Given the description of an element on the screen output the (x, y) to click on. 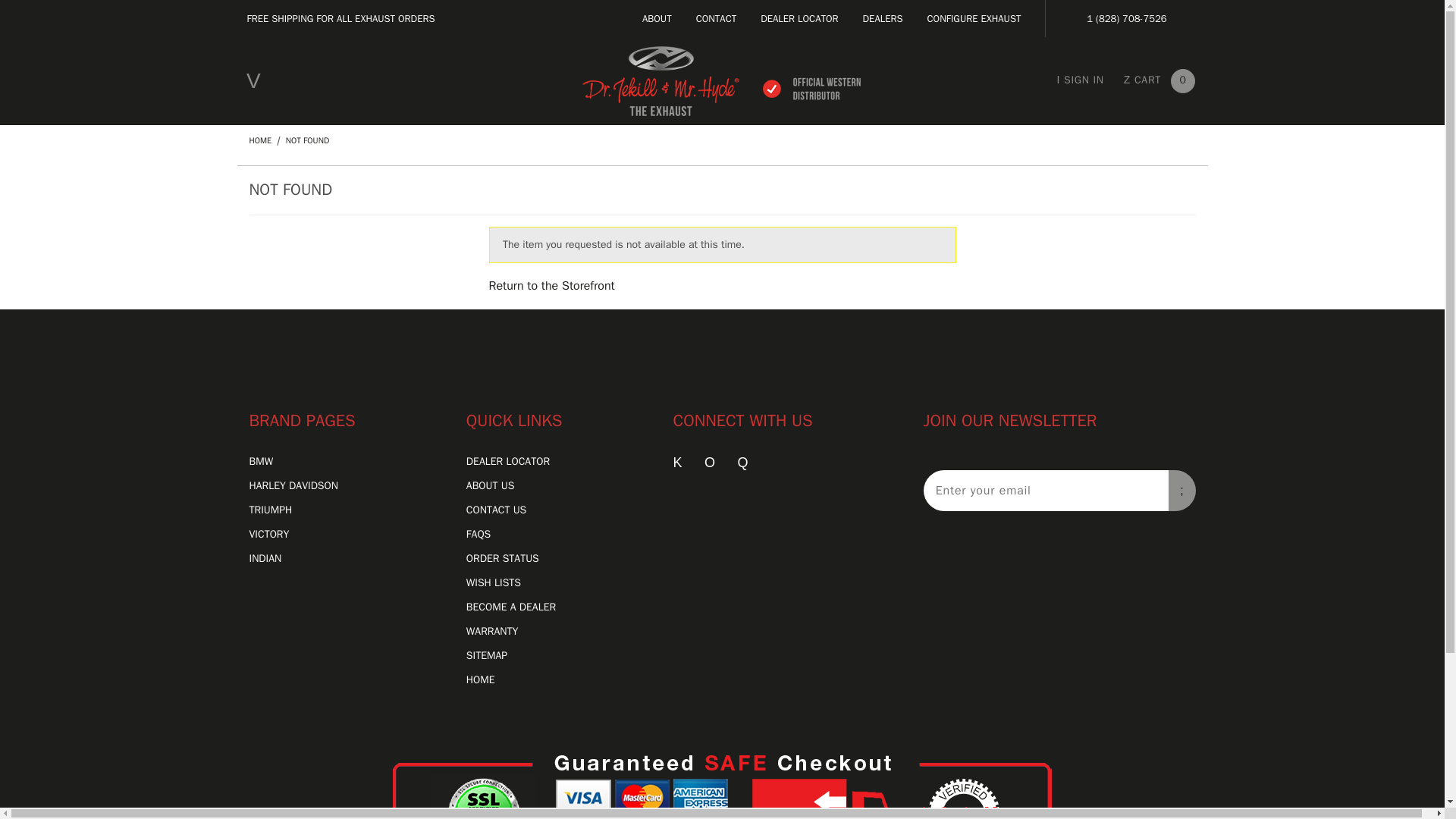
Dealer Locator (799, 18)
Back to home page (721, 80)
Click to call us now (1126, 18)
Configure Exhaust (974, 18)
Click to join our newsletter (1182, 490)
Dealers (882, 18)
Home (260, 140)
About (656, 18)
Not Found (307, 140)
Open Main Navigation Menu (252, 81)
Contact (715, 18)
